Given the description of an element on the screen output the (x, y) to click on. 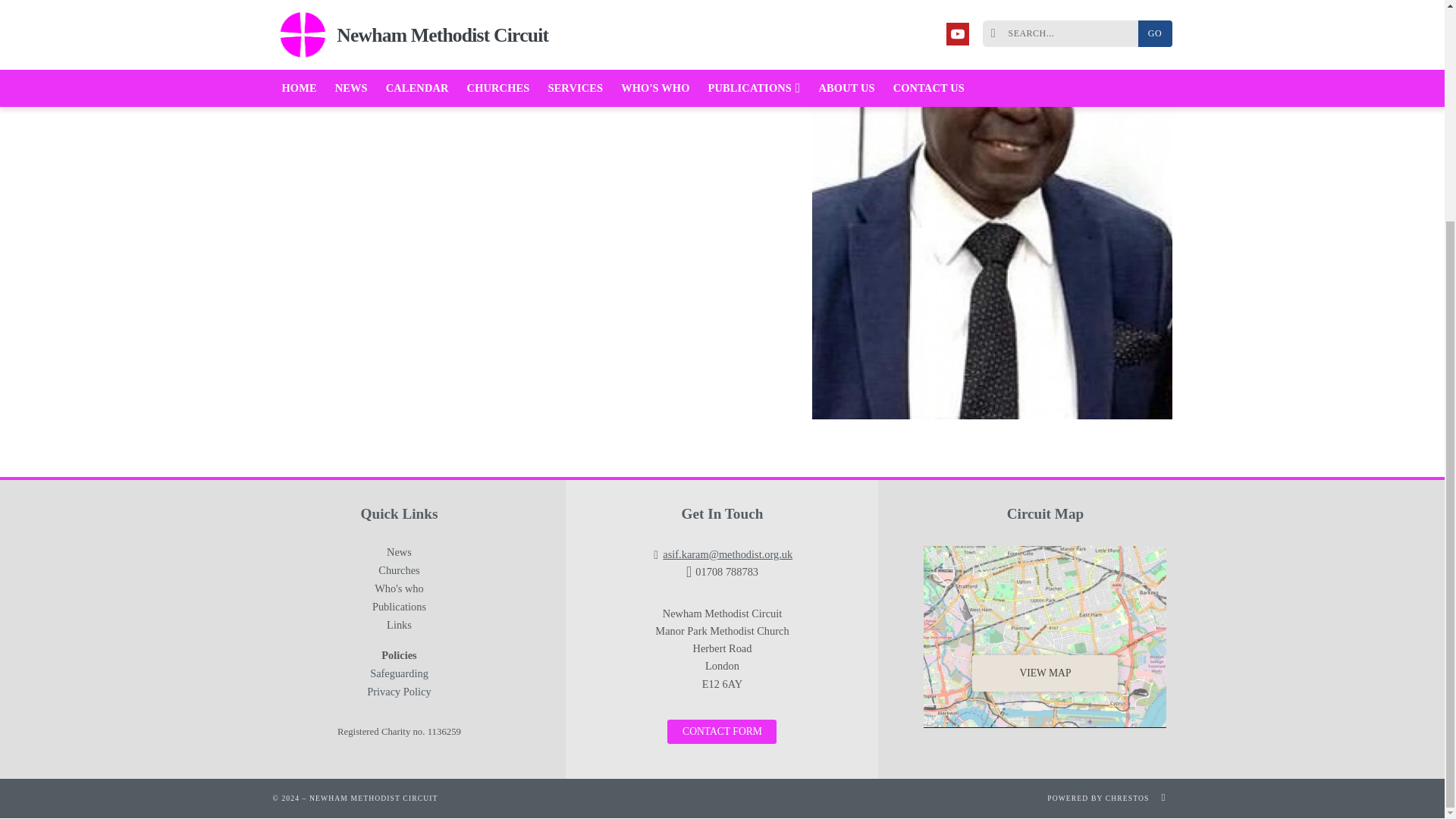
News (398, 555)
Privacy Policy (398, 691)
Links (398, 628)
CONTACT FORM (721, 731)
VIEW MAP (1045, 637)
Churches (398, 573)
Publications (398, 609)
Who's who (398, 591)
Safeguarding (398, 676)
